Given the description of an element on the screen output the (x, y) to click on. 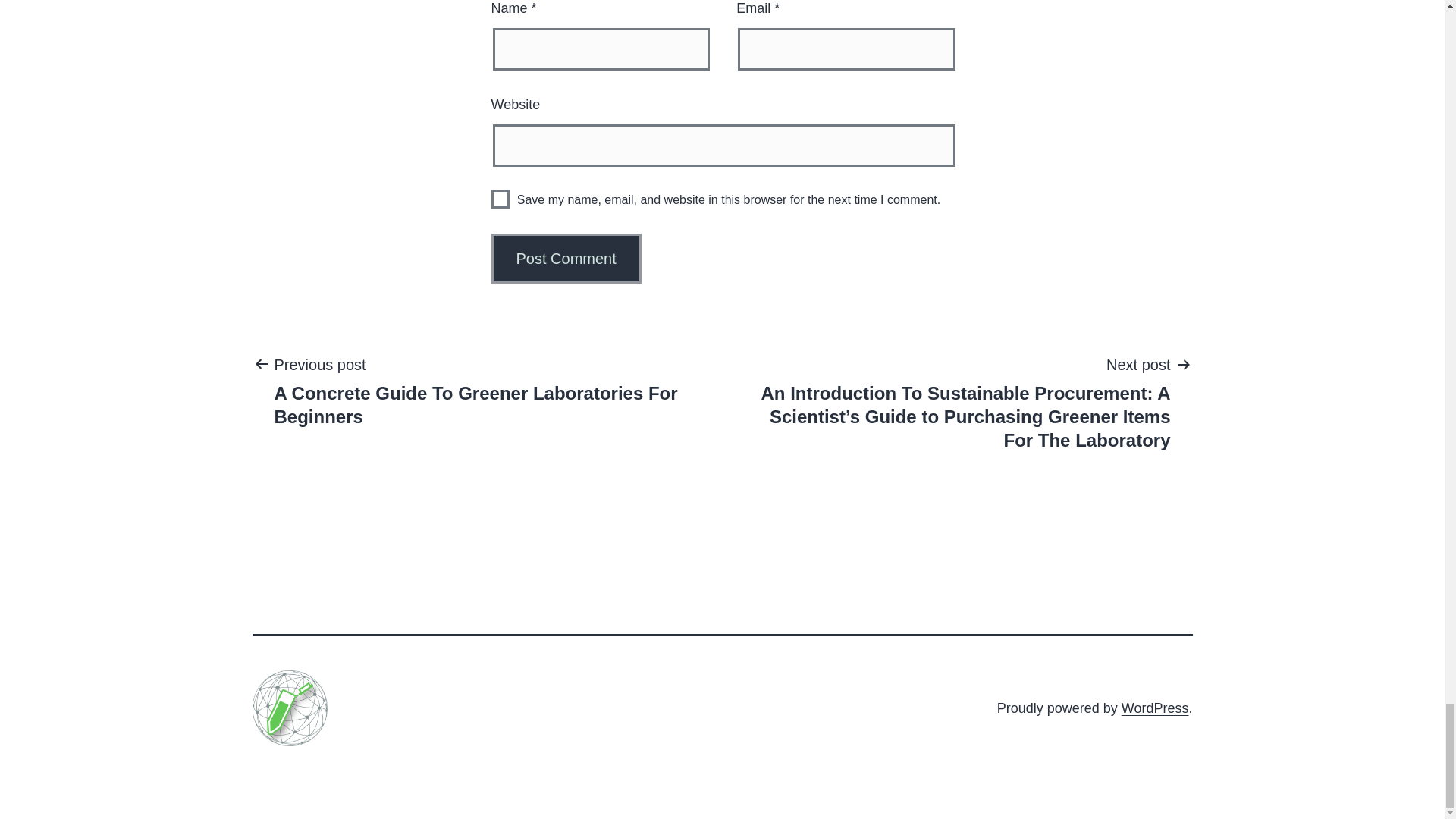
Post Comment (567, 258)
Post Comment (567, 258)
WordPress (1155, 708)
yes (500, 198)
